Given the description of an element on the screen output the (x, y) to click on. 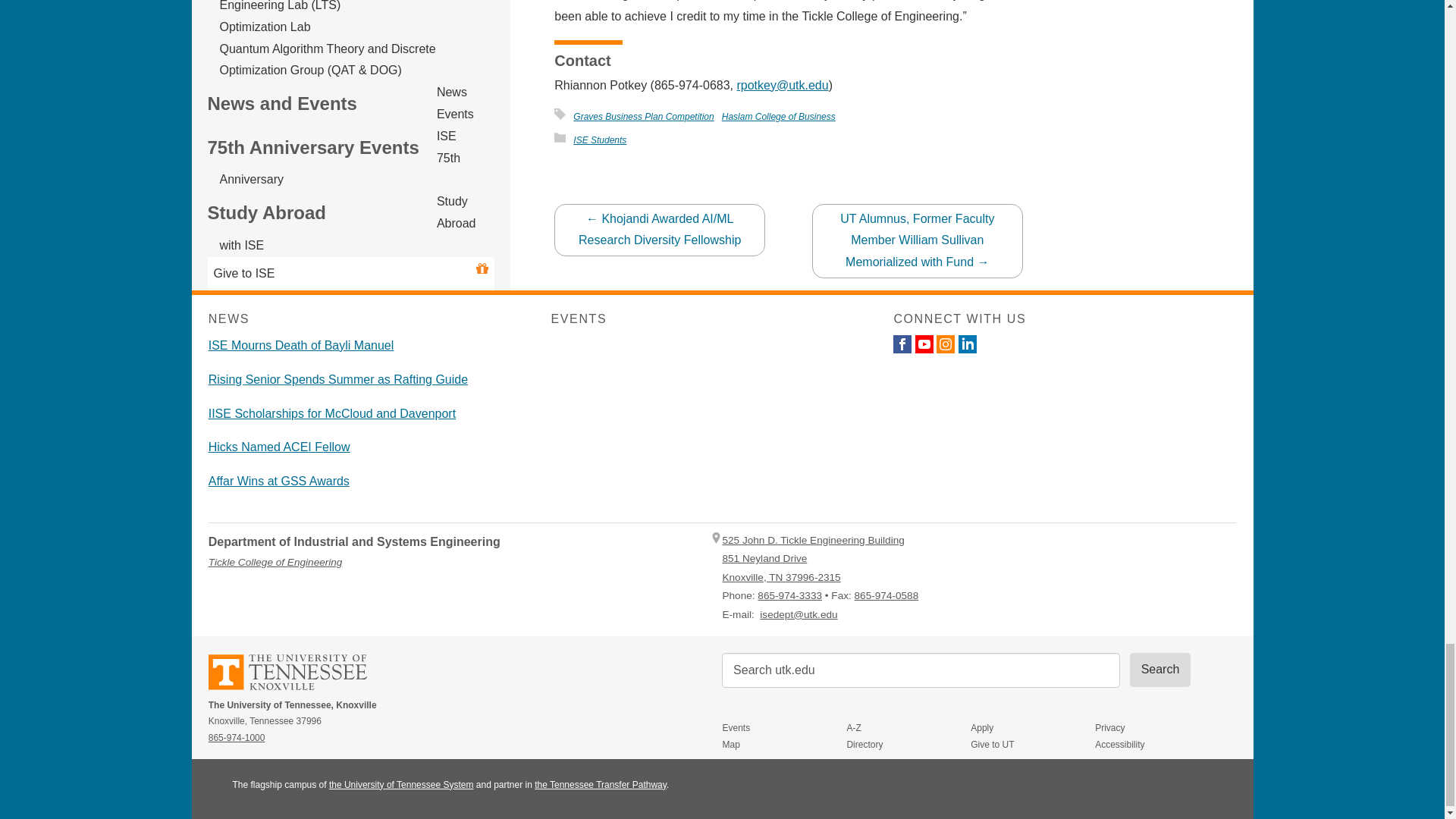
Search (1160, 669)
Submit (1160, 669)
Search utk.edu (920, 669)
search (920, 669)
